Given the description of an element on the screen output the (x, y) to click on. 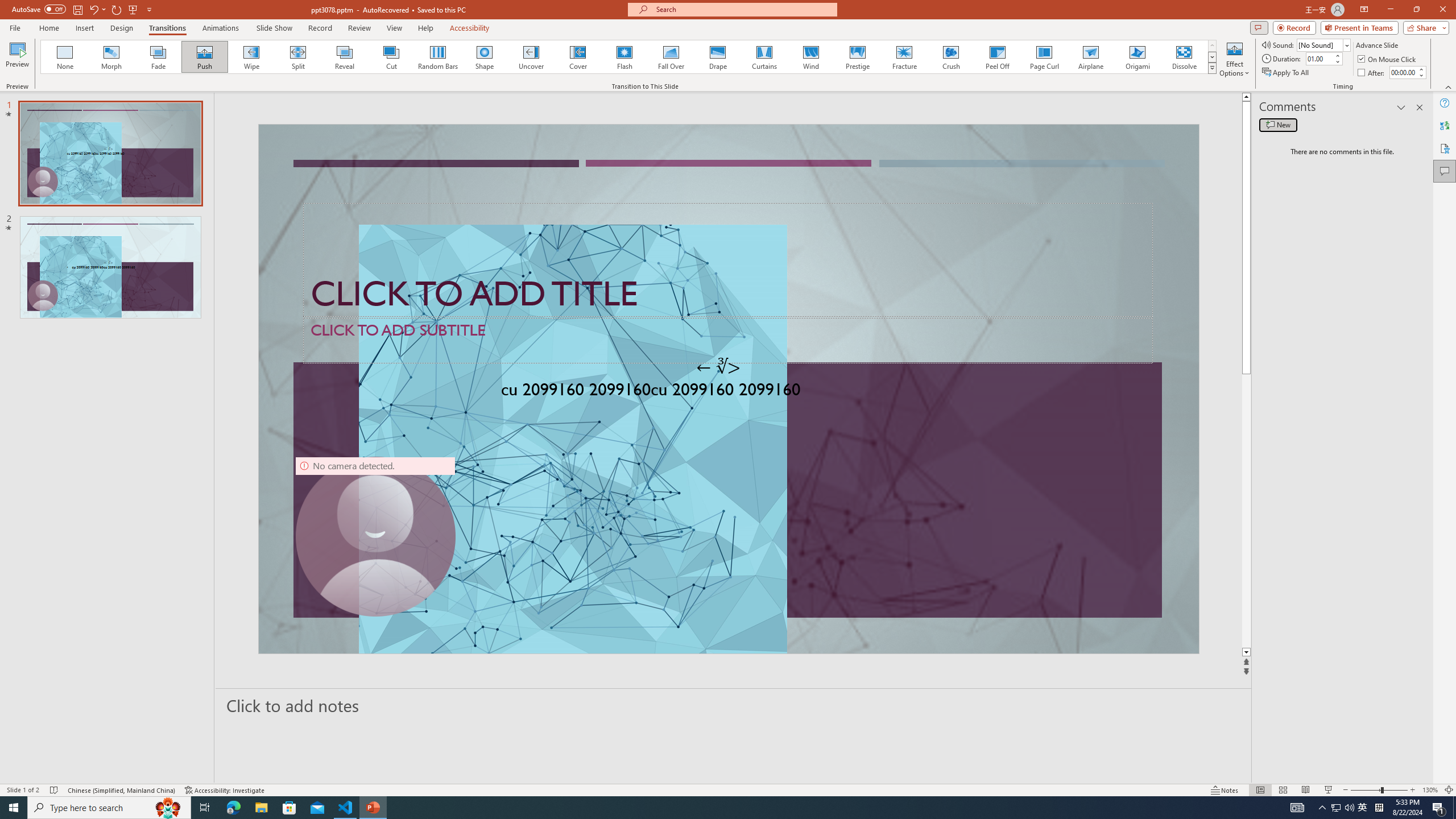
Wind (810, 56)
Sound (1324, 44)
Fracture (903, 56)
Fall Over (670, 56)
Push (205, 56)
Apply To All (1286, 72)
Prestige (857, 56)
